Given the description of an element on the screen output the (x, y) to click on. 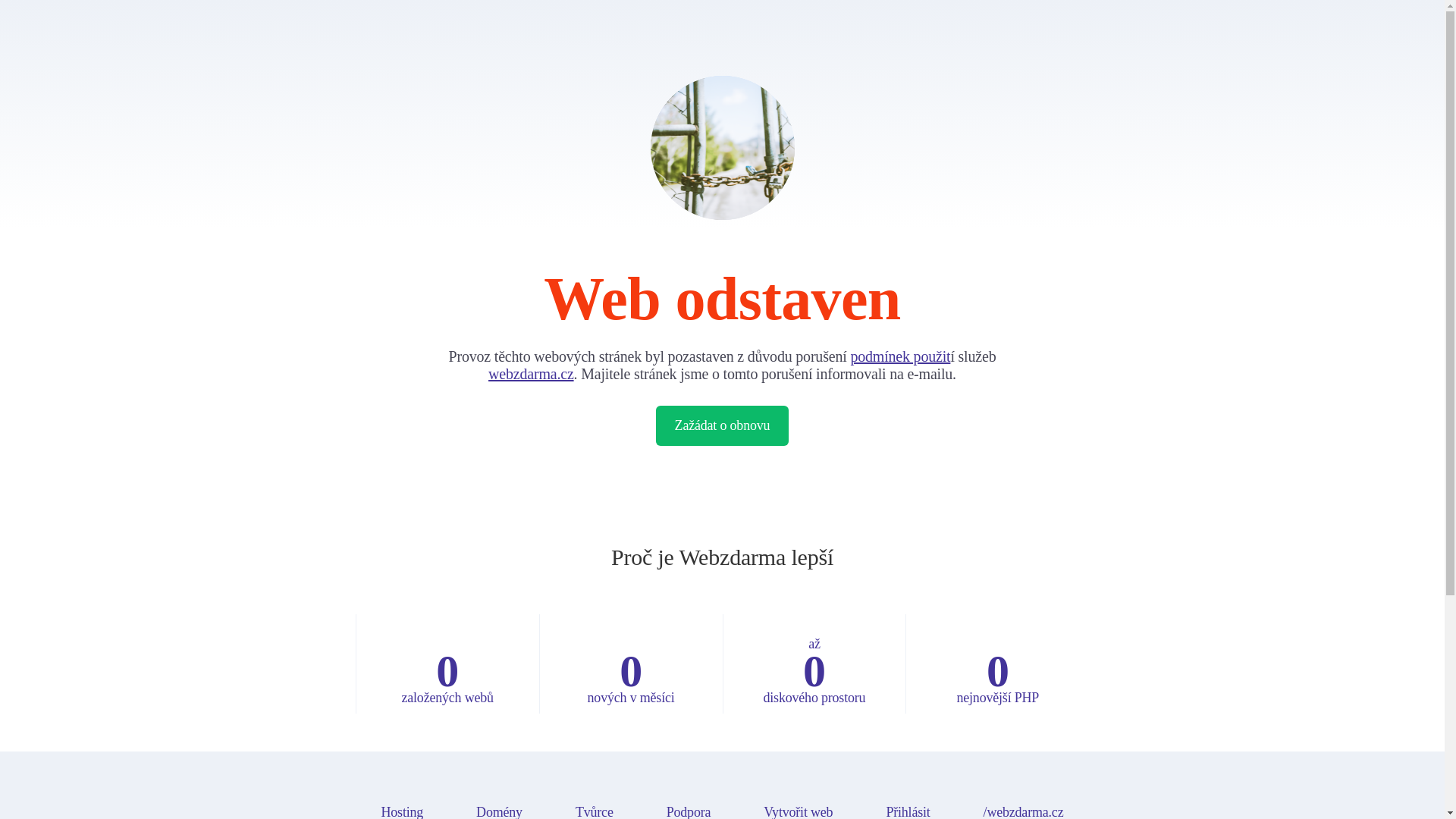
webzdarma.cz (530, 373)
Podpora (688, 811)
Hosting (401, 811)
